Given the description of an element on the screen output the (x, y) to click on. 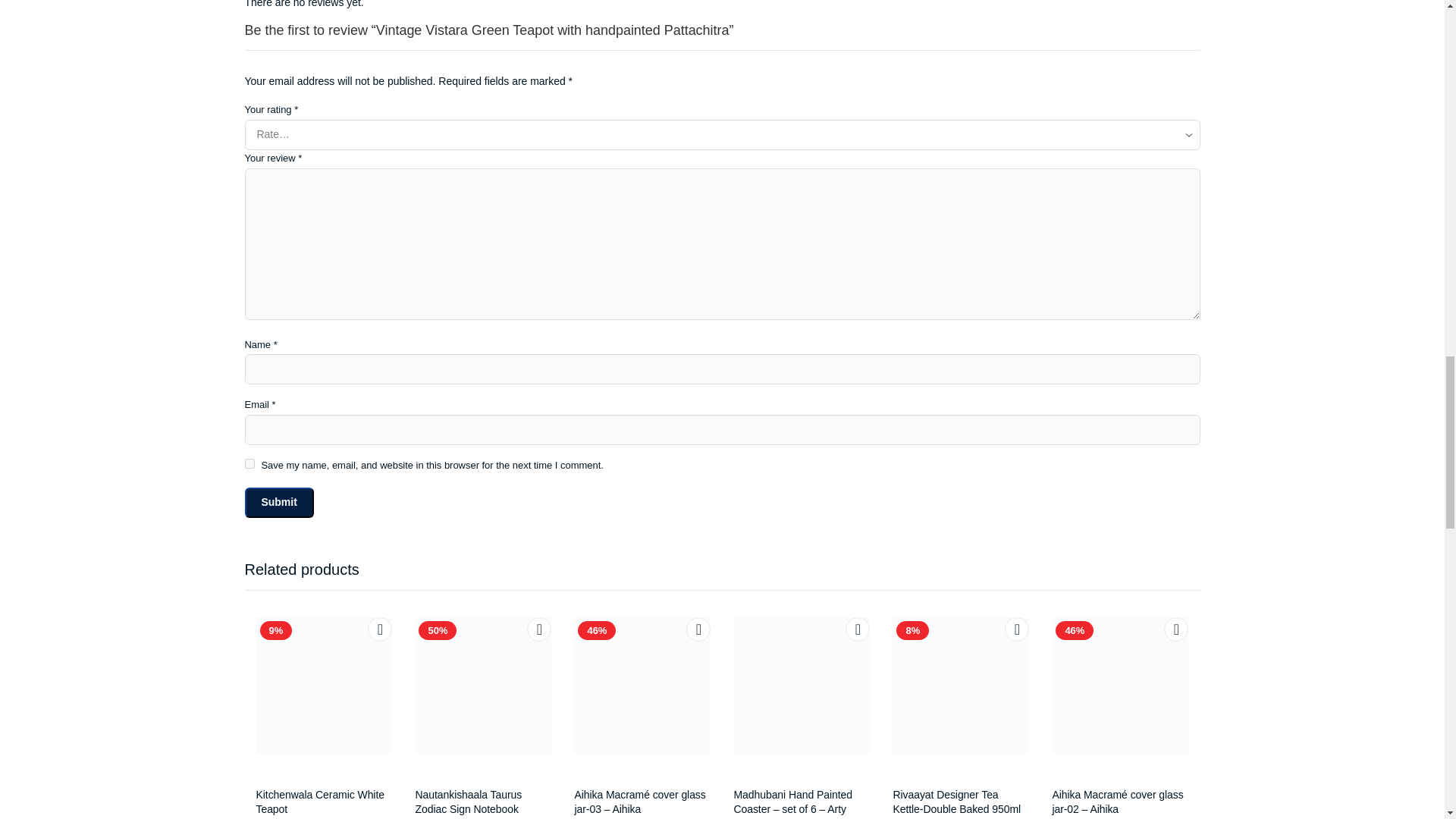
Submit (278, 502)
yes (248, 463)
